Given the description of an element on the screen output the (x, y) to click on. 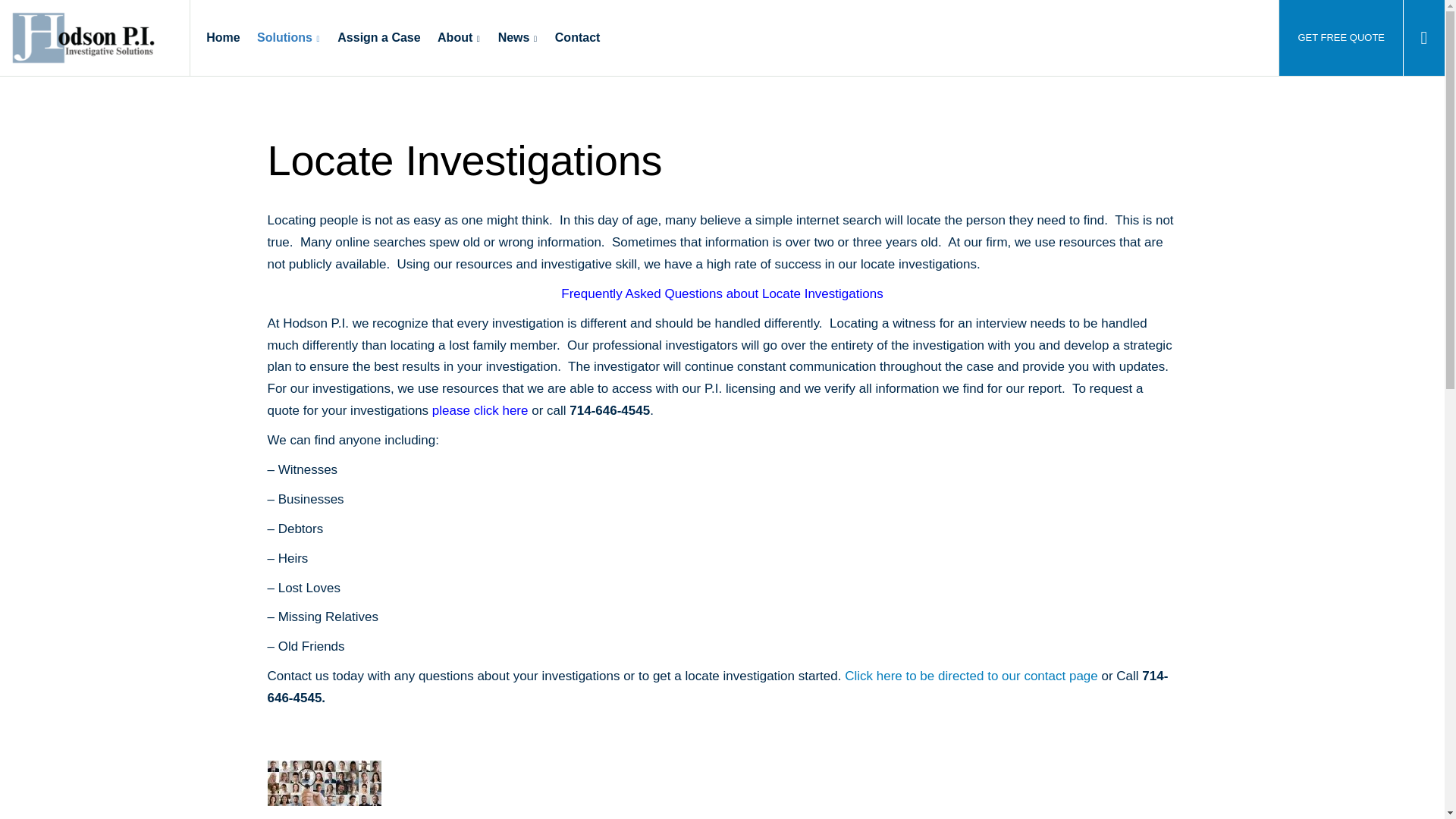
Contact a Private Investigator (83, 38)
FAQ about locate investigations (972, 676)
